Given the description of an element on the screen output the (x, y) to click on. 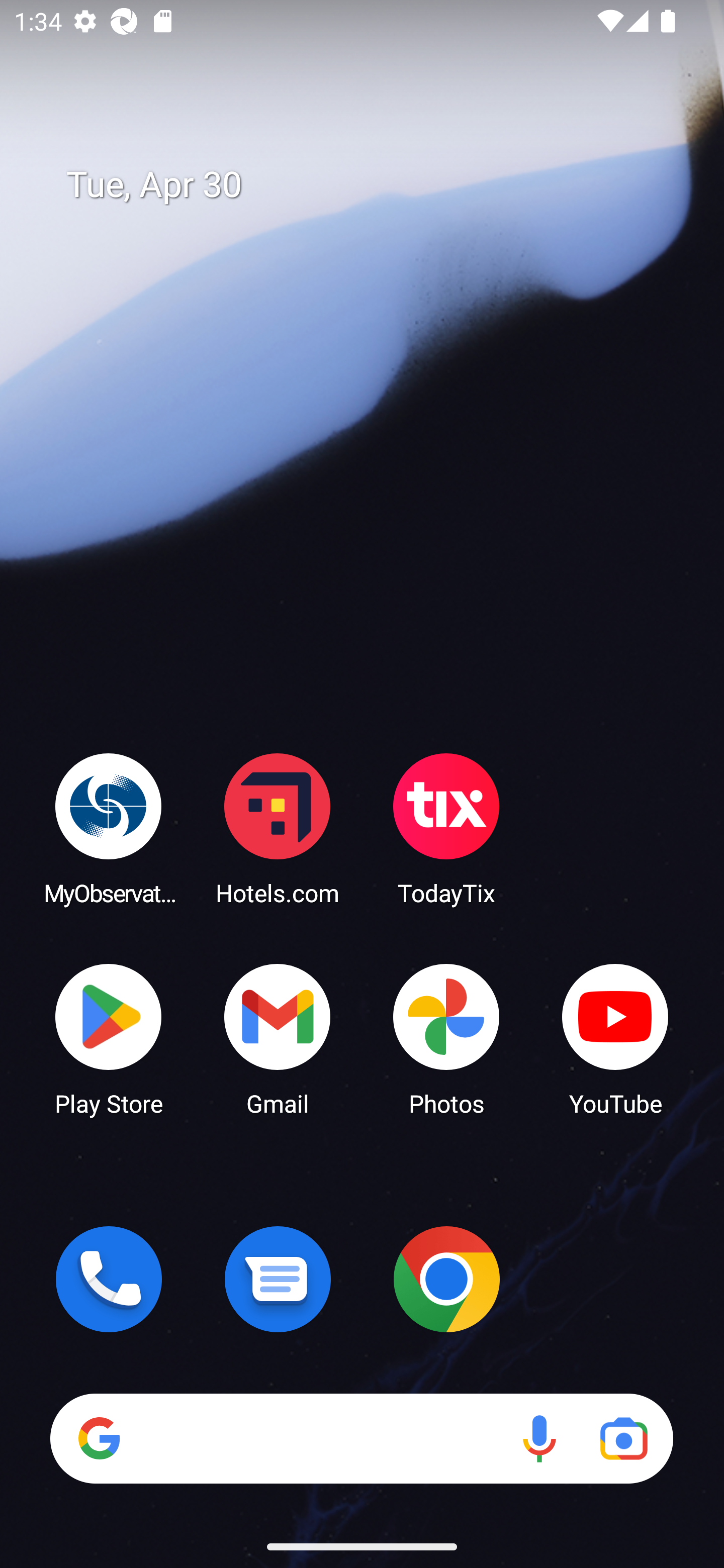
Tue, Apr 30 (375, 184)
MyObservatory (108, 828)
Hotels.com (277, 828)
TodayTix (445, 828)
Play Store (108, 1038)
Gmail (277, 1038)
Photos (445, 1038)
YouTube (615, 1038)
Phone (108, 1279)
Messages (277, 1279)
Chrome (446, 1279)
Voice search (539, 1438)
Google Lens (623, 1438)
